Given the description of an element on the screen output the (x, y) to click on. 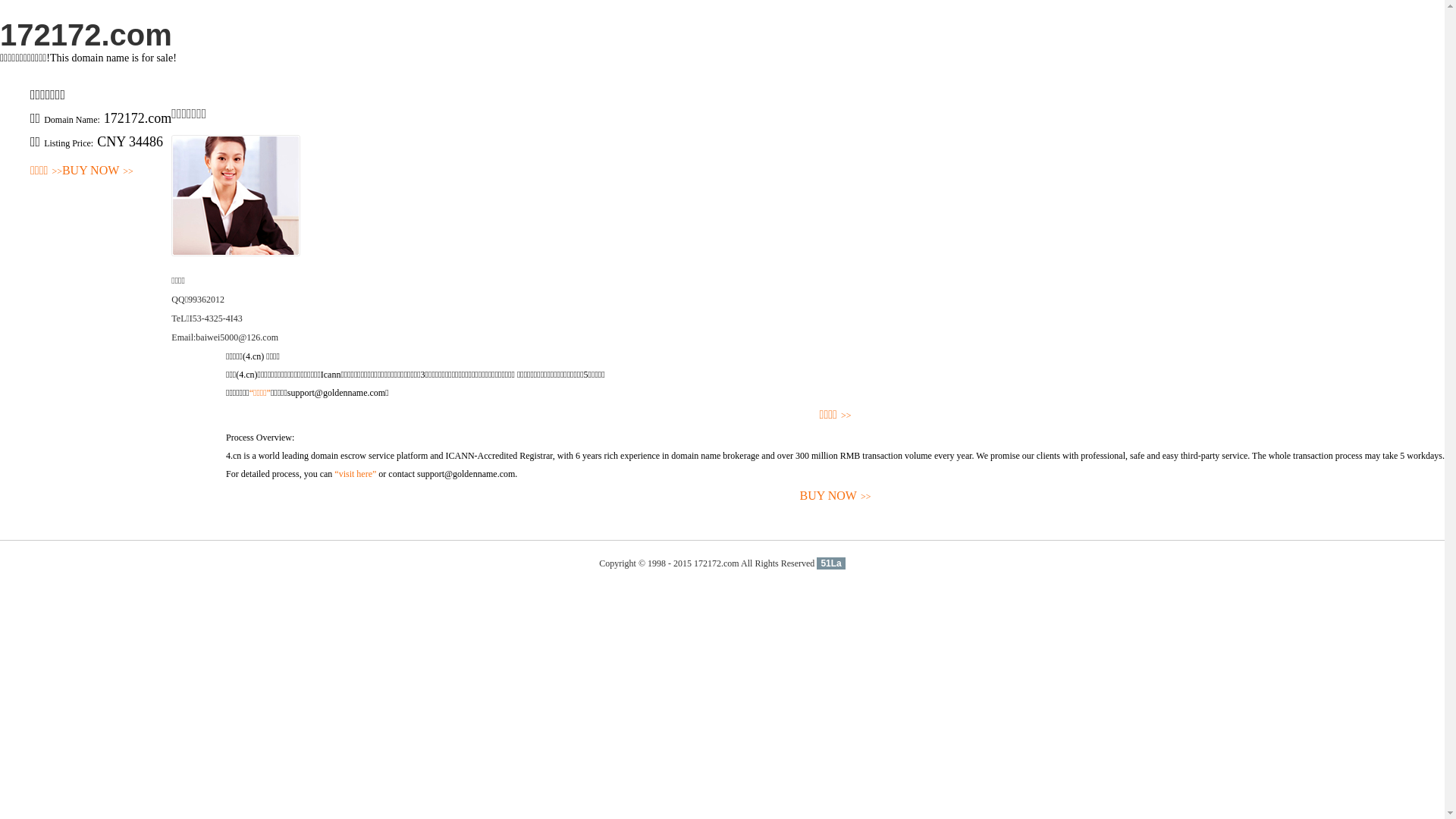
BUY NOW>> Element type: text (834, 496)
51La Element type: text (830, 563)
BUY NOW>> Element type: text (97, 170)
